Given the description of an element on the screen output the (x, y) to click on. 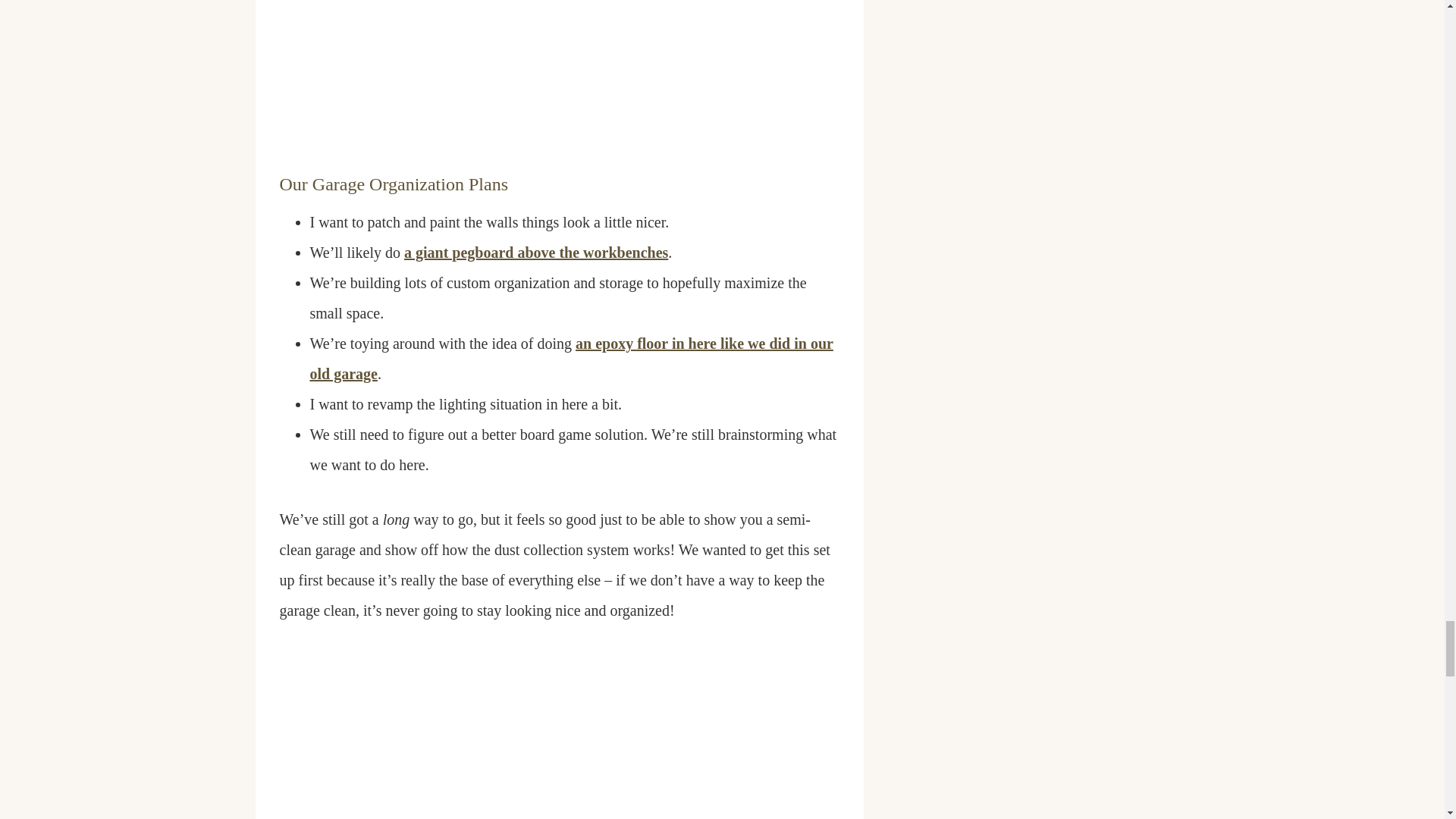
an epoxy floor in here like we did in our old garage (570, 358)
a giant pegboard above the workbenches (536, 252)
